Given the description of an element on the screen output the (x, y) to click on. 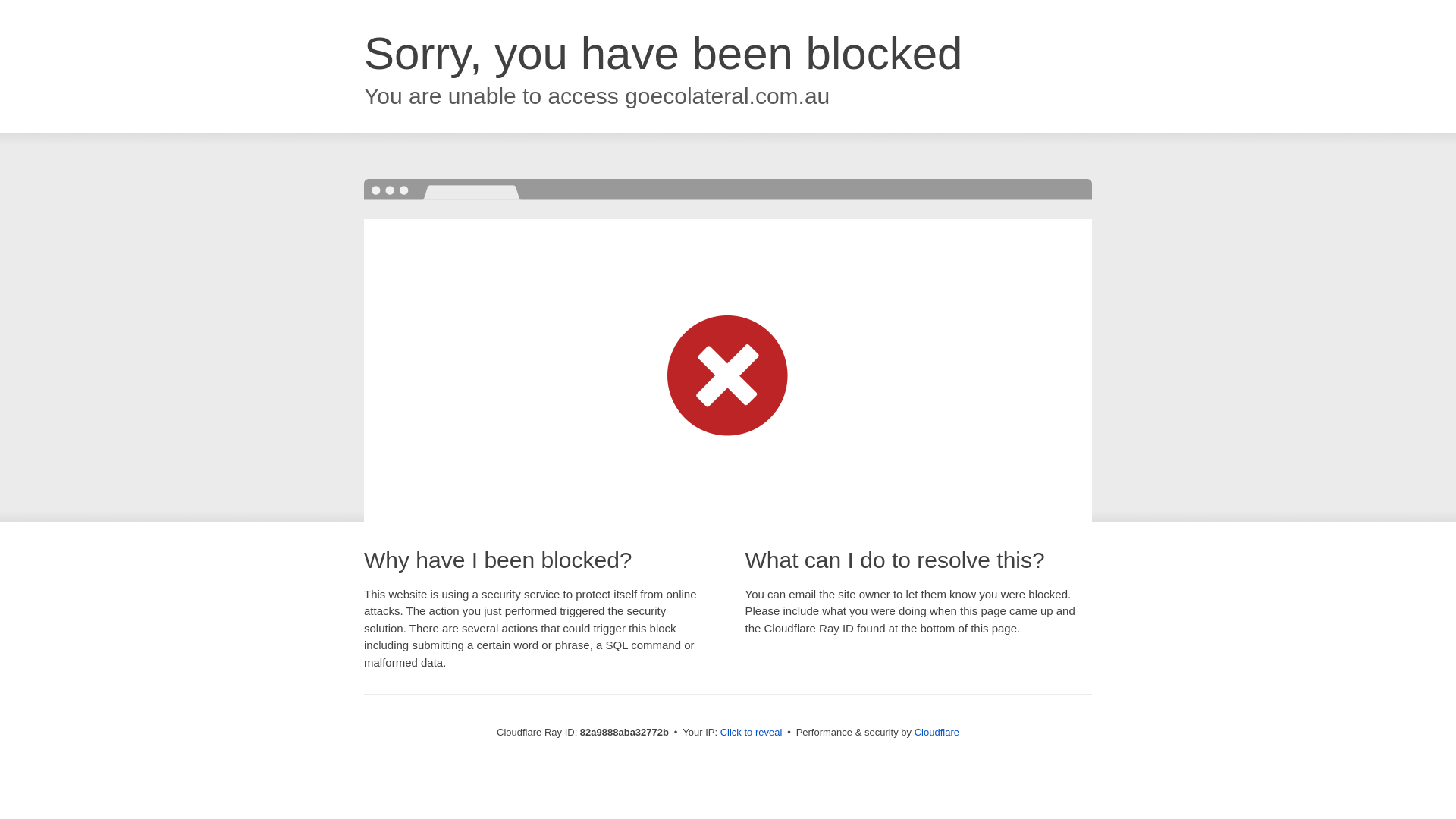
Cloudflare Element type: text (936, 731)
Click to reveal Element type: text (751, 732)
